Given the description of an element on the screen output the (x, y) to click on. 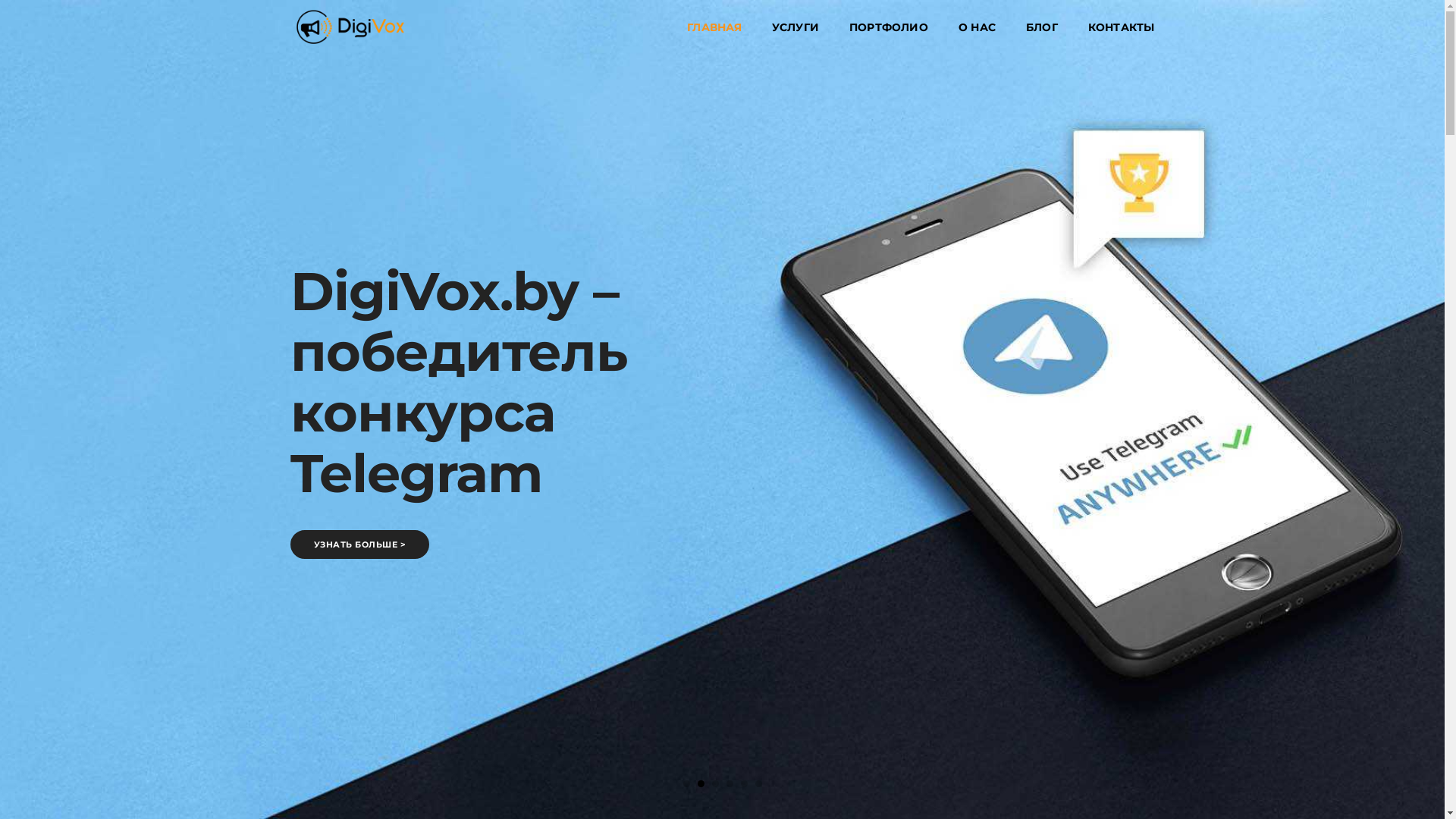
digivox.by Element type: hover (349, 26)
